Given the description of an element on the screen output the (x, y) to click on. 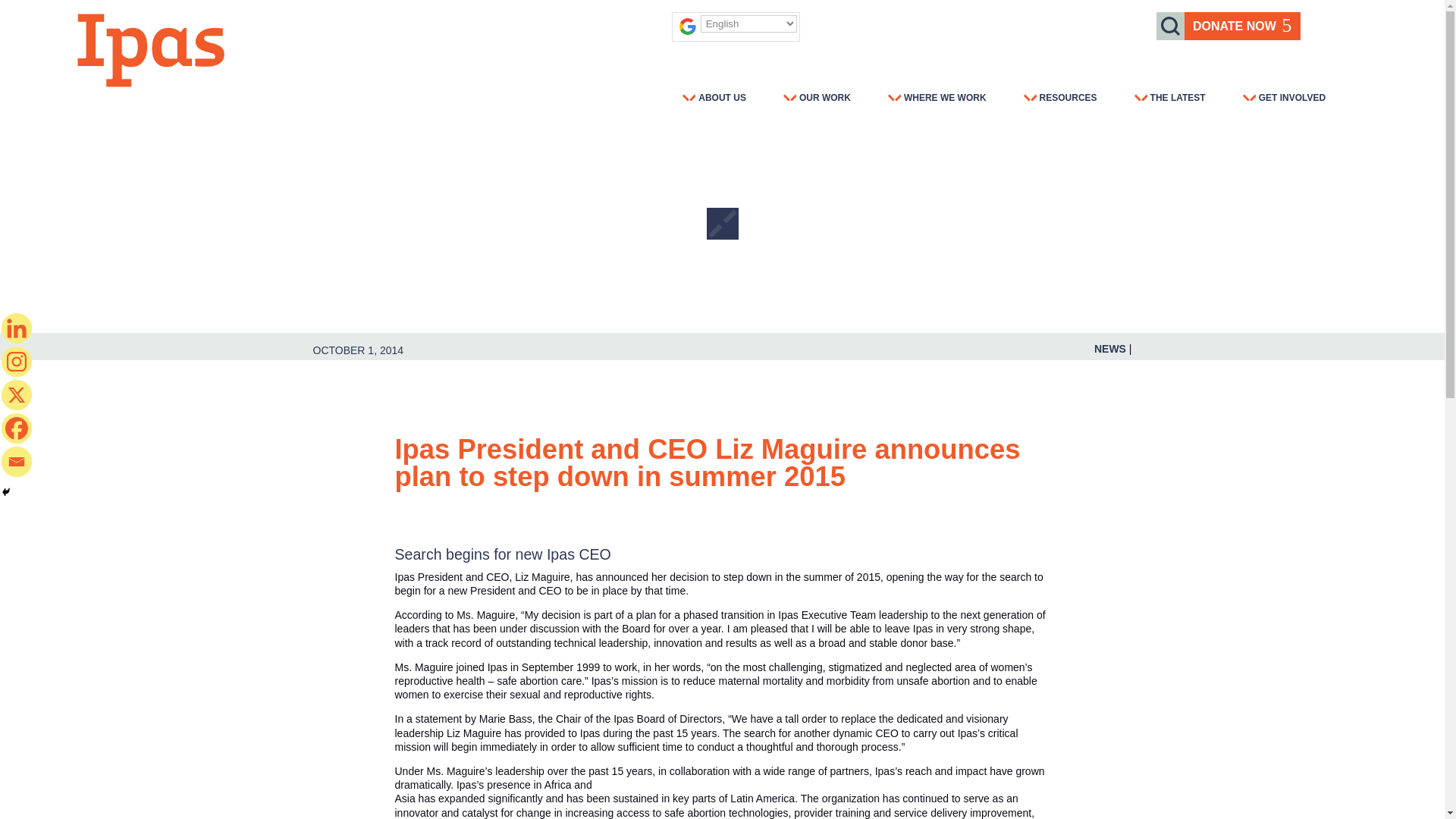
Linkedin (16, 327)
X (16, 395)
Email (16, 461)
Facebook (16, 428)
Instagram (16, 361)
Hide (5, 491)
